Given the description of an element on the screen output the (x, y) to click on. 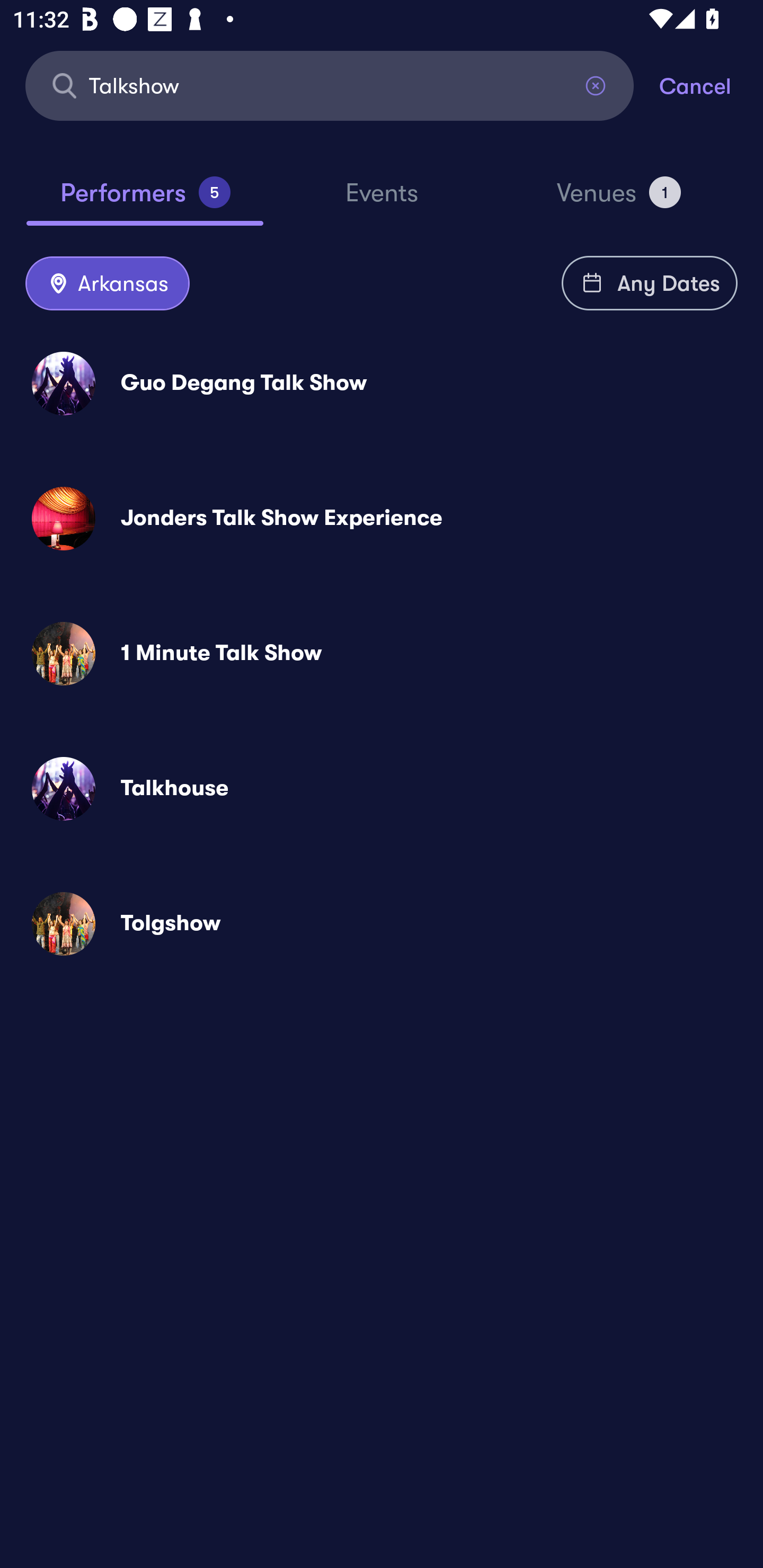
Talkshow Find (329, 85)
Talkshow Find (329, 85)
Cancel (711, 85)
Performers 5 (144, 200)
Venues 1 (618, 200)
Events (381, 201)
Any Dates (649, 282)
Arkansas (107, 283)
Guo Degang Talk Show (381, 383)
Jonders Talk Show Experience (381, 518)
1 Minute Talk Show (381, 652)
Talkhouse (381, 788)
Tolgshow (381, 924)
